Given the description of an element on the screen output the (x, y) to click on. 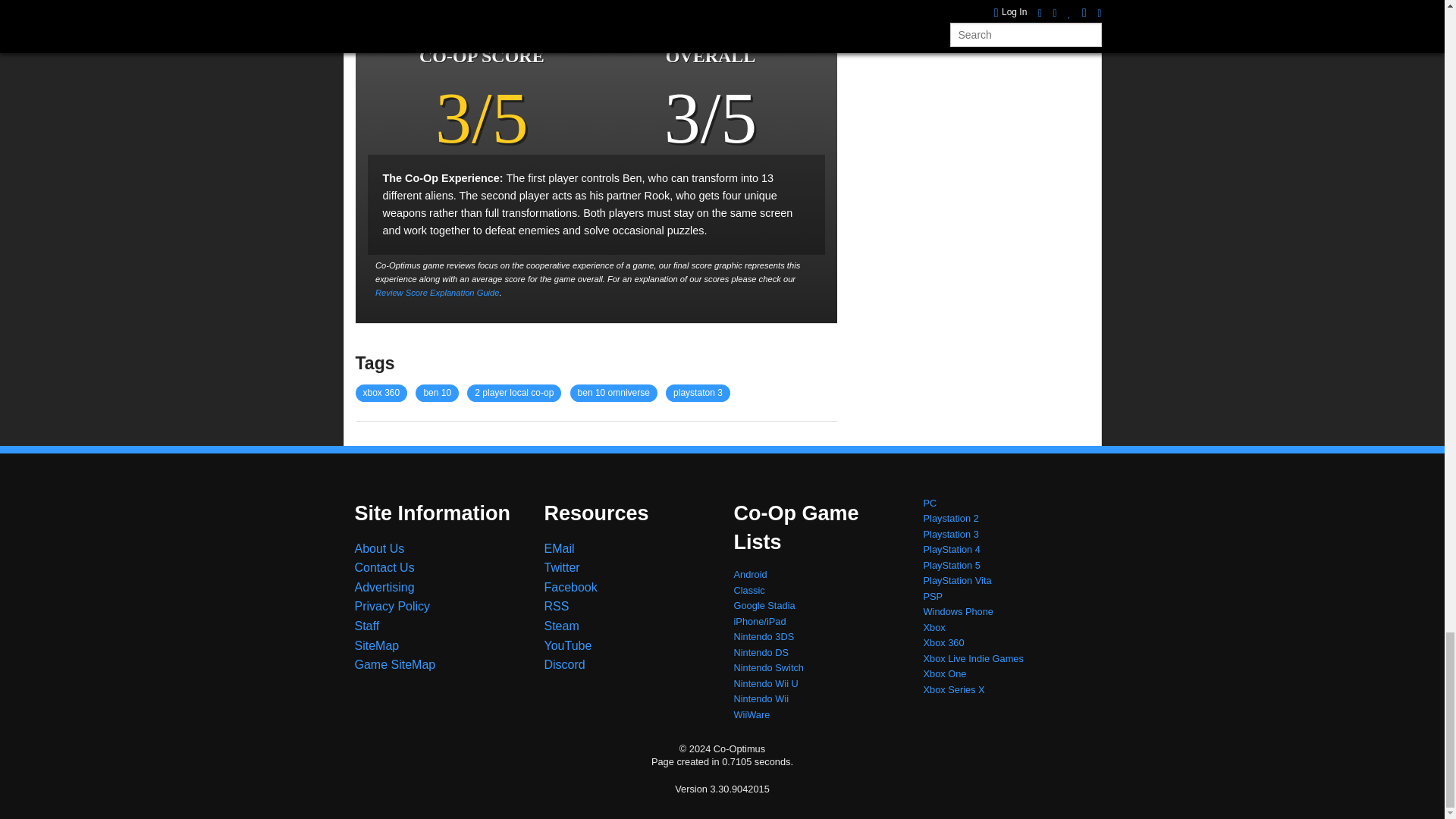
Join our Steam Group! (561, 625)
Our current staff and bios. (367, 625)
Advertising rates and traffic numbers. (384, 586)
